Given the description of an element on the screen output the (x, y) to click on. 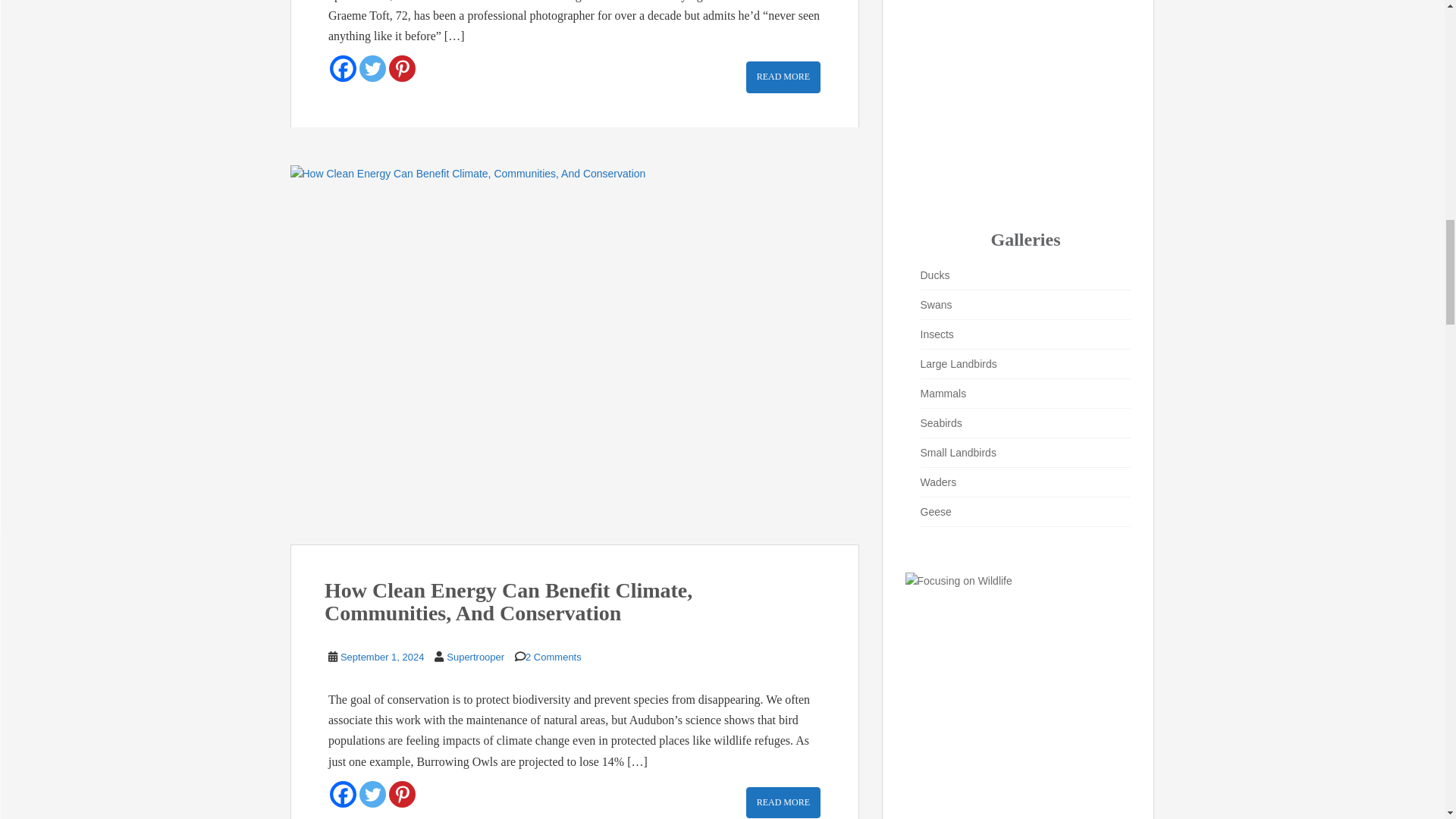
Twitter (372, 68)
READ MORE (783, 76)
Facebook (343, 68)
